Given the description of an element on the screen output the (x, y) to click on. 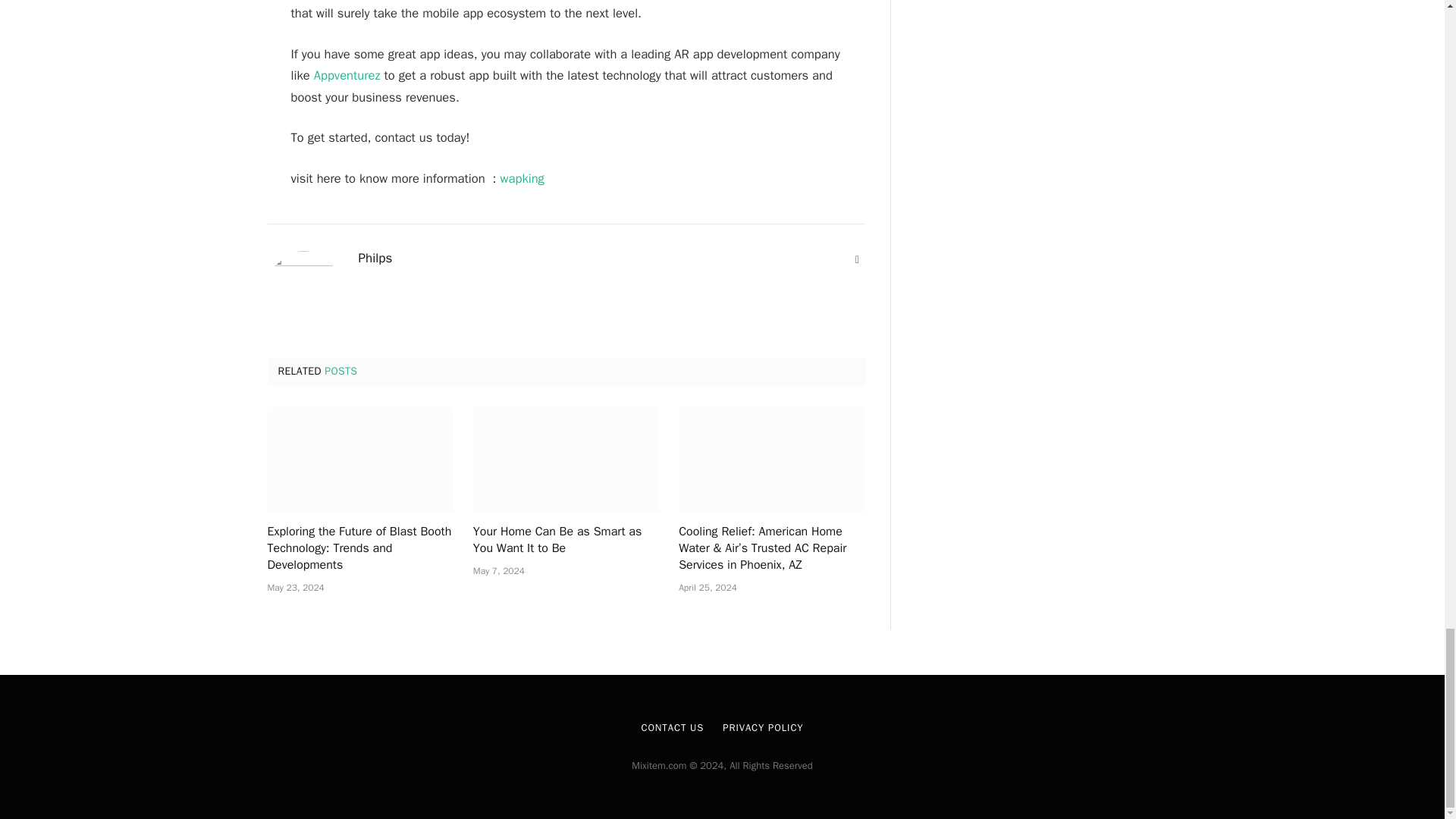
wapking (522, 178)
Philps (374, 258)
Website (856, 259)
Appventurez (347, 75)
